Given the description of an element on the screen output the (x, y) to click on. 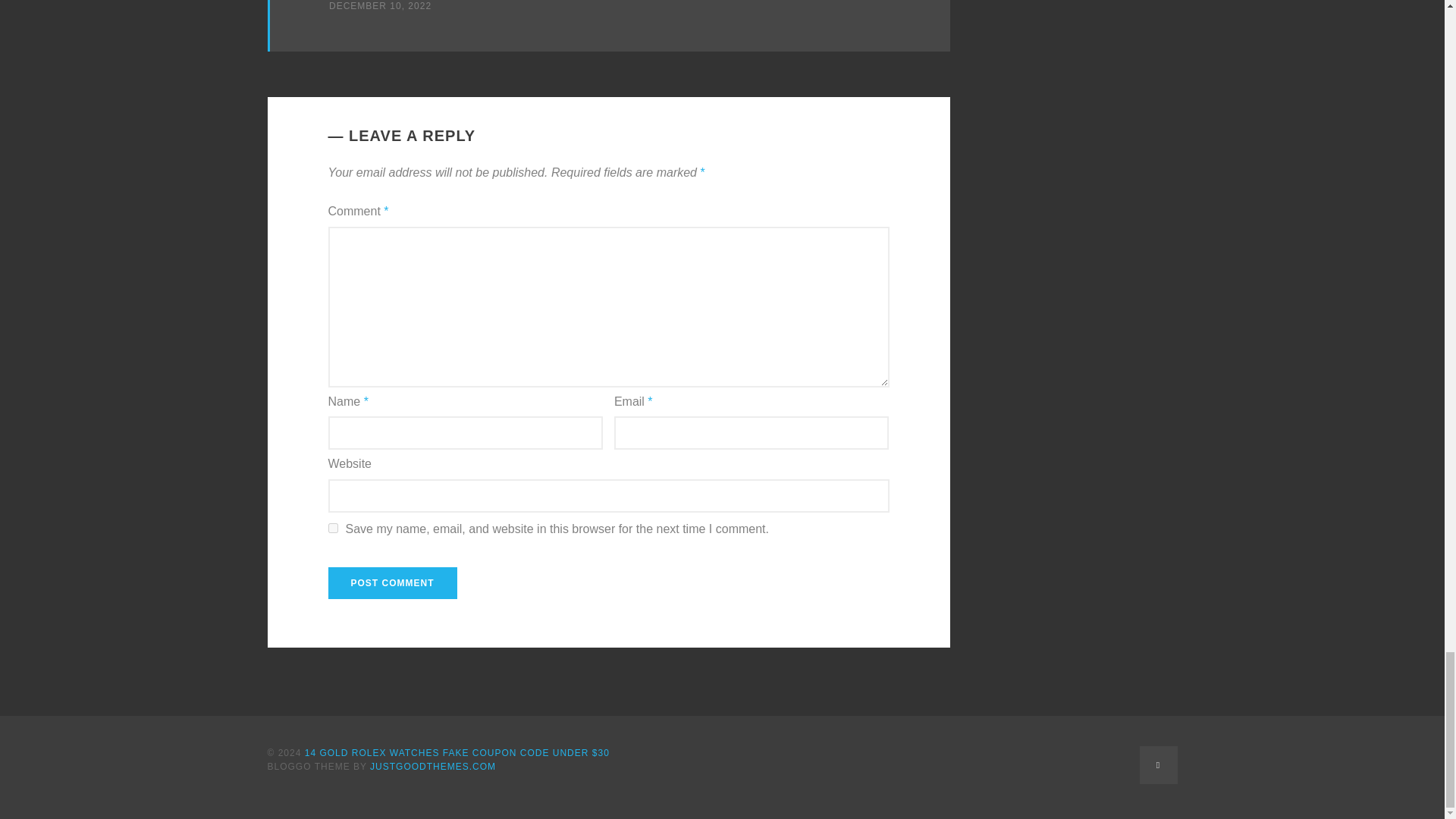
Post Comment (392, 582)
Post Comment (392, 582)
yes (332, 528)
